Given the description of an element on the screen output the (x, y) to click on. 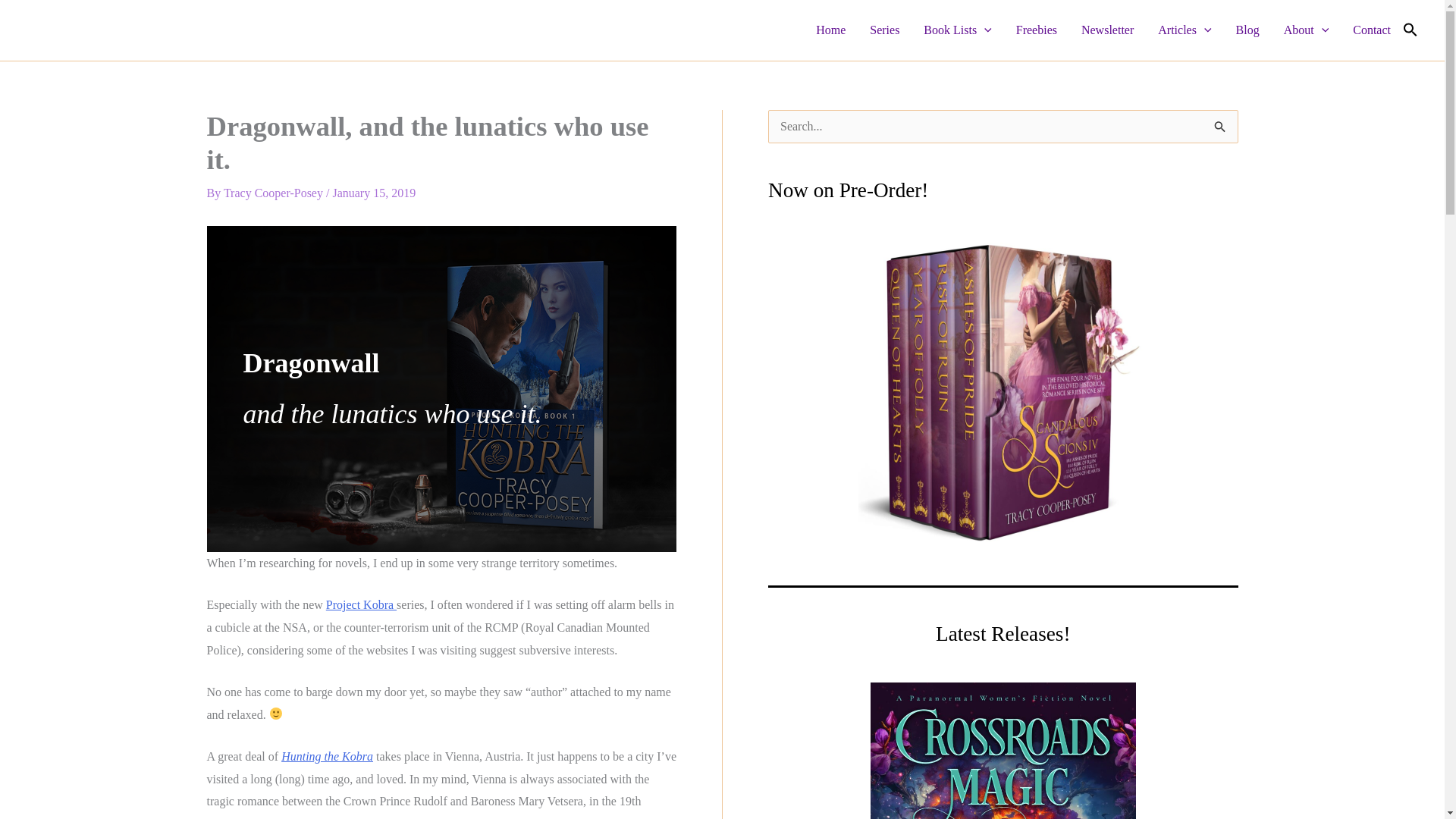
Contact (1371, 30)
Newsletter (1106, 30)
Articles (1184, 30)
View all posts by Tracy Cooper-Posey (275, 192)
About (1305, 30)
Freebies (1036, 30)
Book Lists (957, 30)
